Given the description of an element on the screen output the (x, y) to click on. 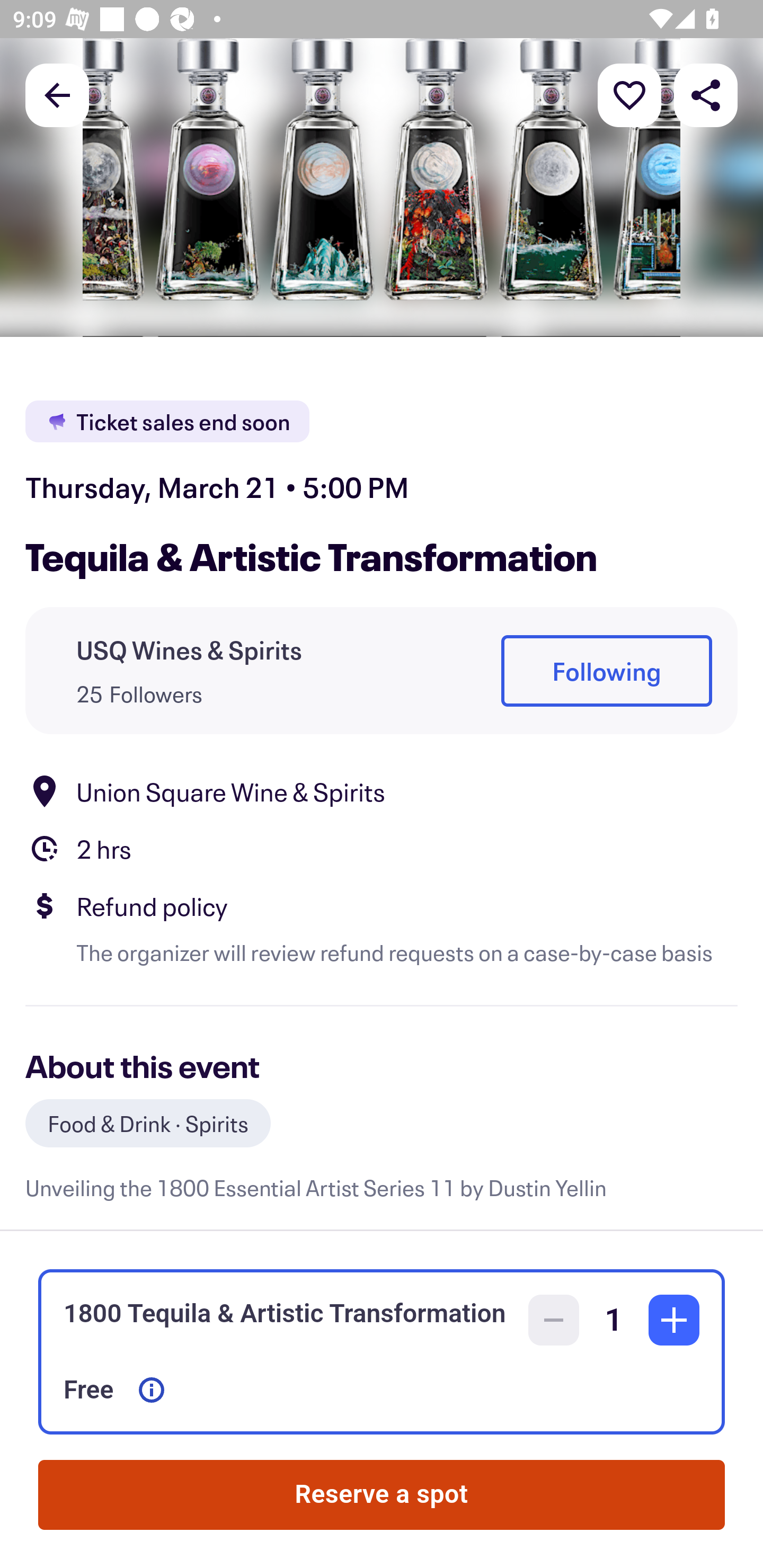
Back (57, 94)
More (629, 94)
Share (705, 94)
USQ Wines & Spirits (189, 649)
Following (606, 670)
Location Union Square Wine & Spirits (381, 790)
Decrease (553, 1320)
Increase (673, 1320)
Show more information (151, 1389)
Reserve a spot (381, 1494)
